Given the description of an element on the screen output the (x, y) to click on. 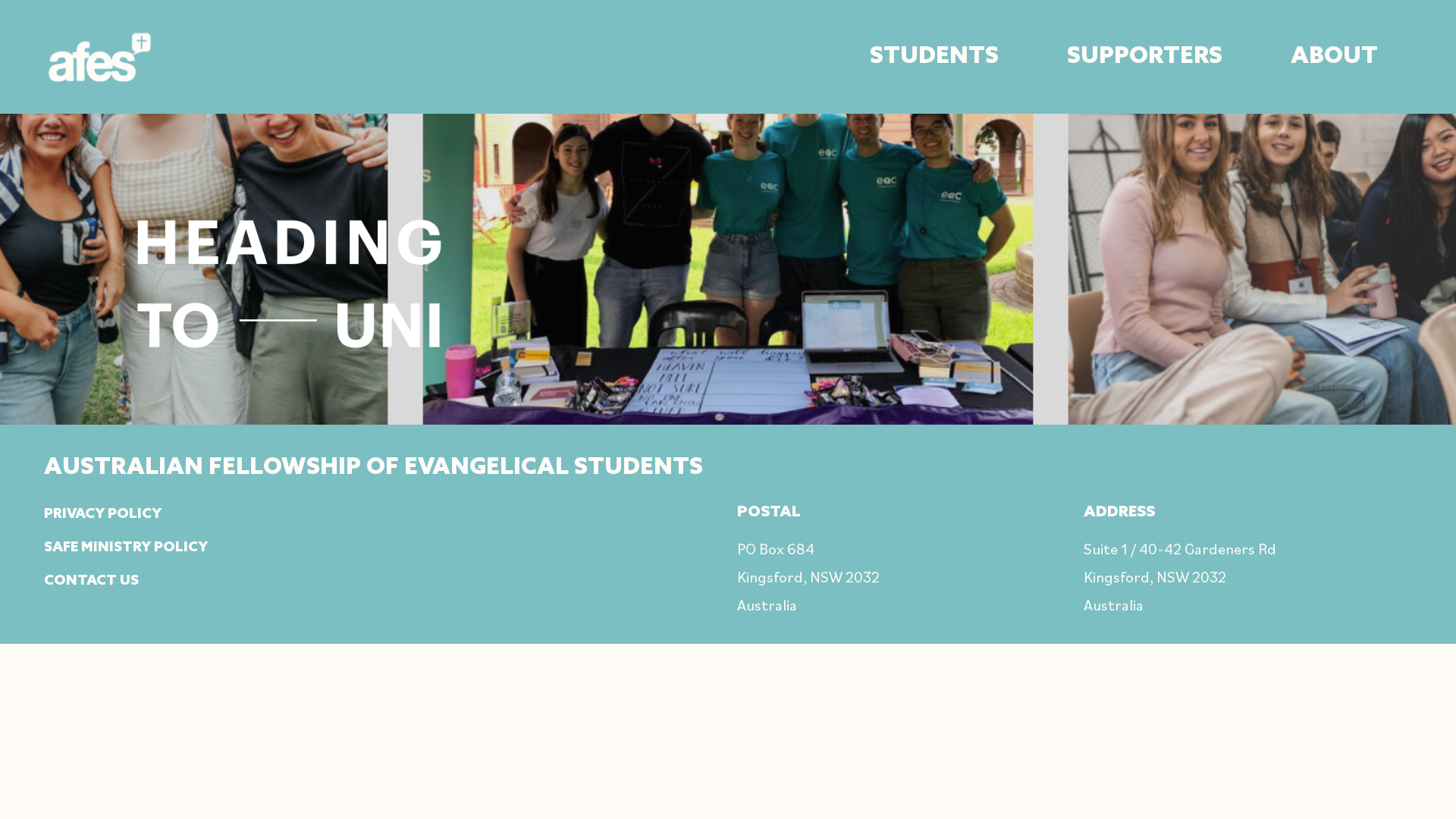
SUPPORTERS Element type: text (1144, 56)
CONTACT US Element type: text (90, 580)
ABOUT Element type: text (1333, 56)
PRIVACY POLICY Element type: text (102, 513)
STUDENTS Element type: text (933, 56)
SAFE MINISTRY POLICY Element type: text (125, 547)
